Given the description of an element on the screen output the (x, y) to click on. 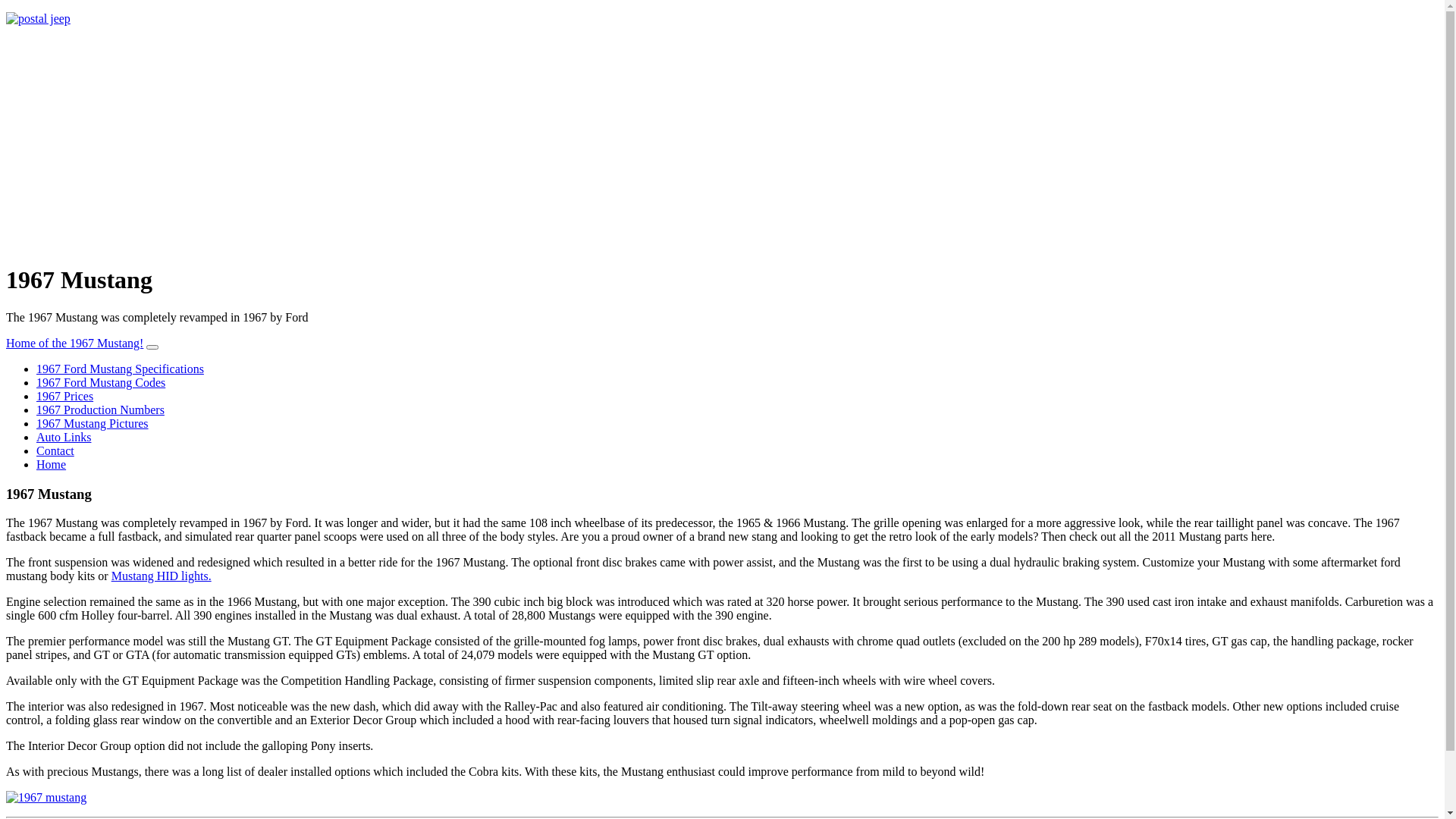
Mustang HID lights. Element type: text (161, 575)
1967 Mustang Pictures Element type: text (92, 423)
Contact Element type: text (55, 450)
Home of the 1967 Mustang! Element type: text (74, 342)
1967 Production Numbers Element type: text (100, 409)
1967 Prices Element type: text (64, 395)
Advertisement Element type: hover (721, 143)
Auto Links Element type: text (63, 436)
1967 Ford Mustang Codes Element type: text (100, 382)
1967 Ford Mustang Specifications Element type: text (119, 368)
Home Element type: text (50, 464)
